Given the description of an element on the screen output the (x, y) to click on. 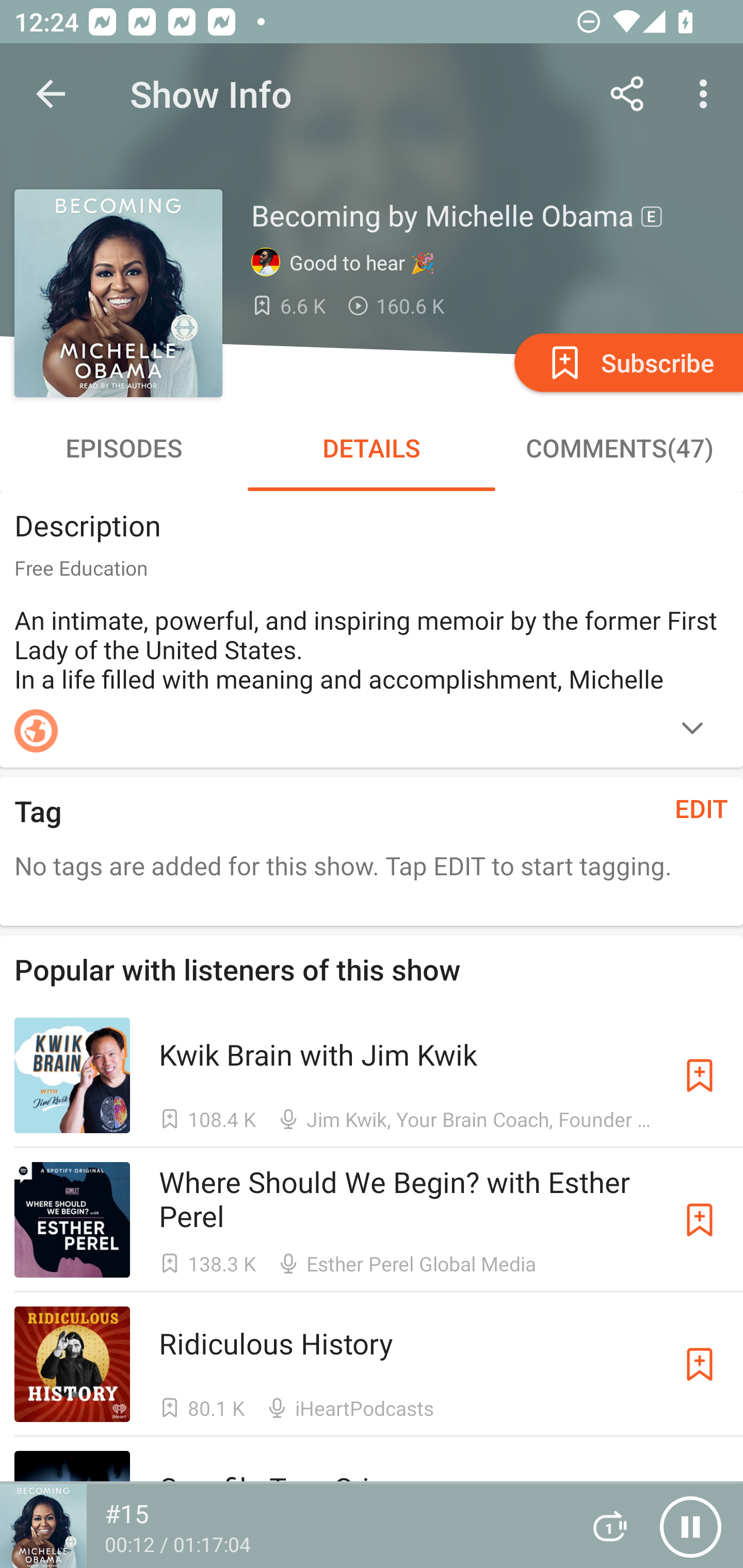
Navigate up (50, 93)
Share (626, 93)
More options (706, 93)
Good to hear 🎉 (348, 262)
Subscribe (627, 361)
EPISODES (123, 447)
DETAILS (371, 447)
COMMENTS(47) (619, 447)
 (692, 730)
EDIT (701, 807)
Subscribe (699, 1075)
Subscribe (699, 1219)
Subscribe (699, 1364)
#15 00:12 / 01:17:04 (283, 1525)
Pause (690, 1526)
